Given the description of an element on the screen output the (x, y) to click on. 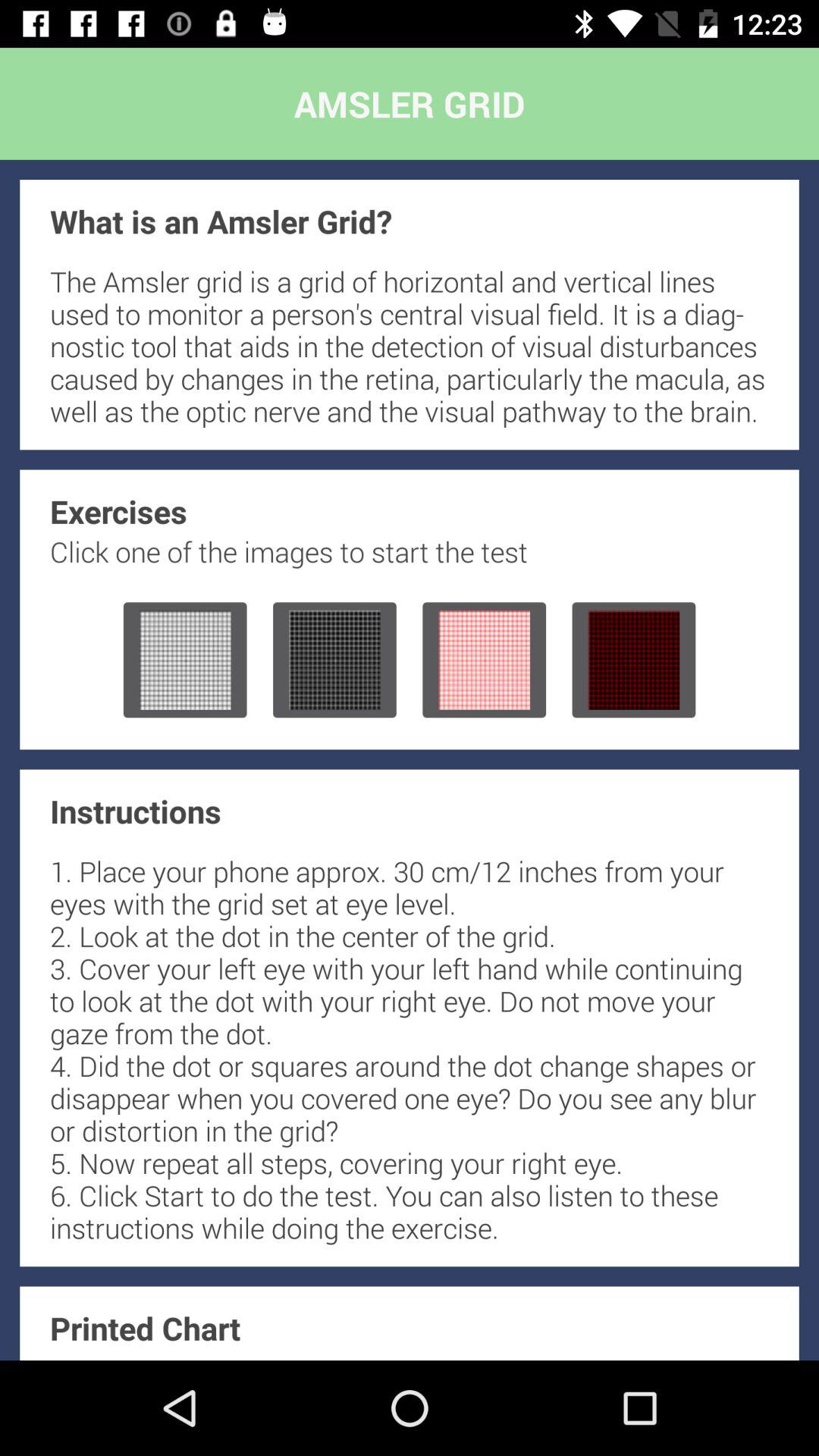
start this test (483, 659)
